Given the description of an element on the screen output the (x, y) to click on. 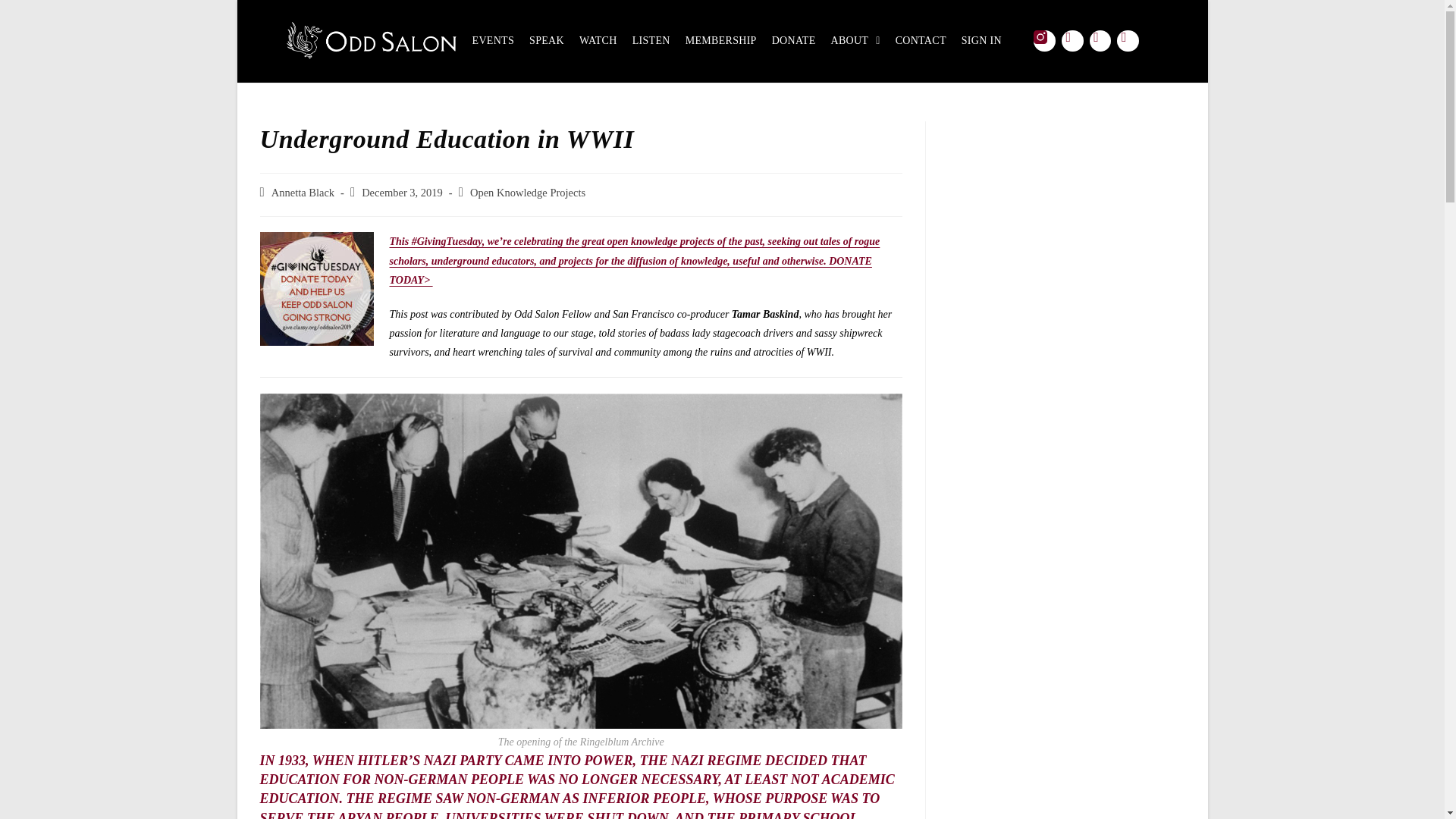
MEMBERSHIP (721, 40)
SPEAK (546, 40)
WATCH (598, 40)
EVENTS (492, 40)
Open Knowledge Projects (527, 192)
ABOUT (855, 40)
DONATE (793, 40)
Posts by Annetta Black (302, 192)
Annetta Black (302, 192)
LISTEN (650, 40)
